Given the description of an element on the screen output the (x, y) to click on. 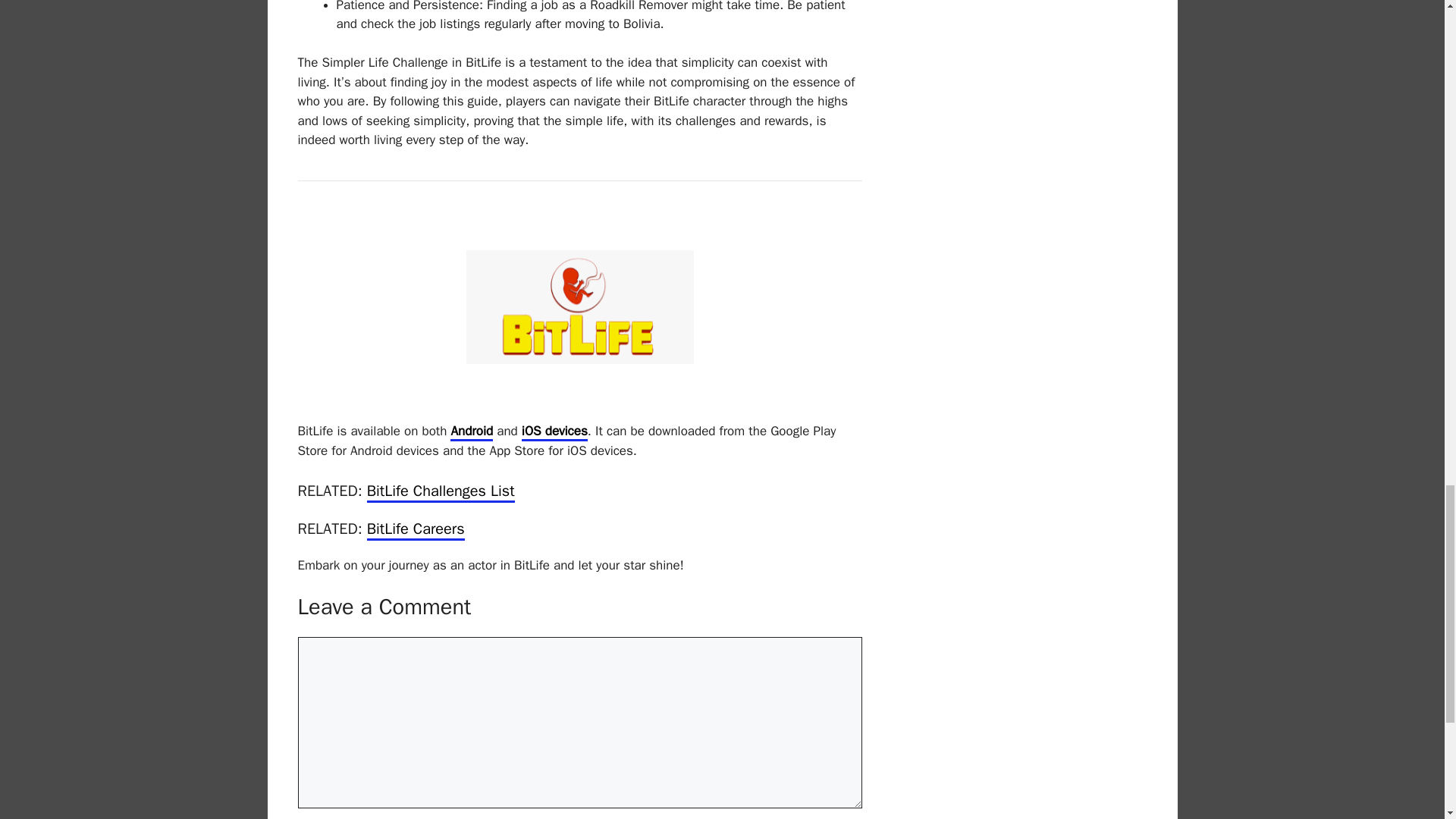
BitLife Careers (415, 529)
iOS devices (554, 432)
Android (471, 432)
BitLife Challenges List (440, 491)
